Given the description of an element on the screen output the (x, y) to click on. 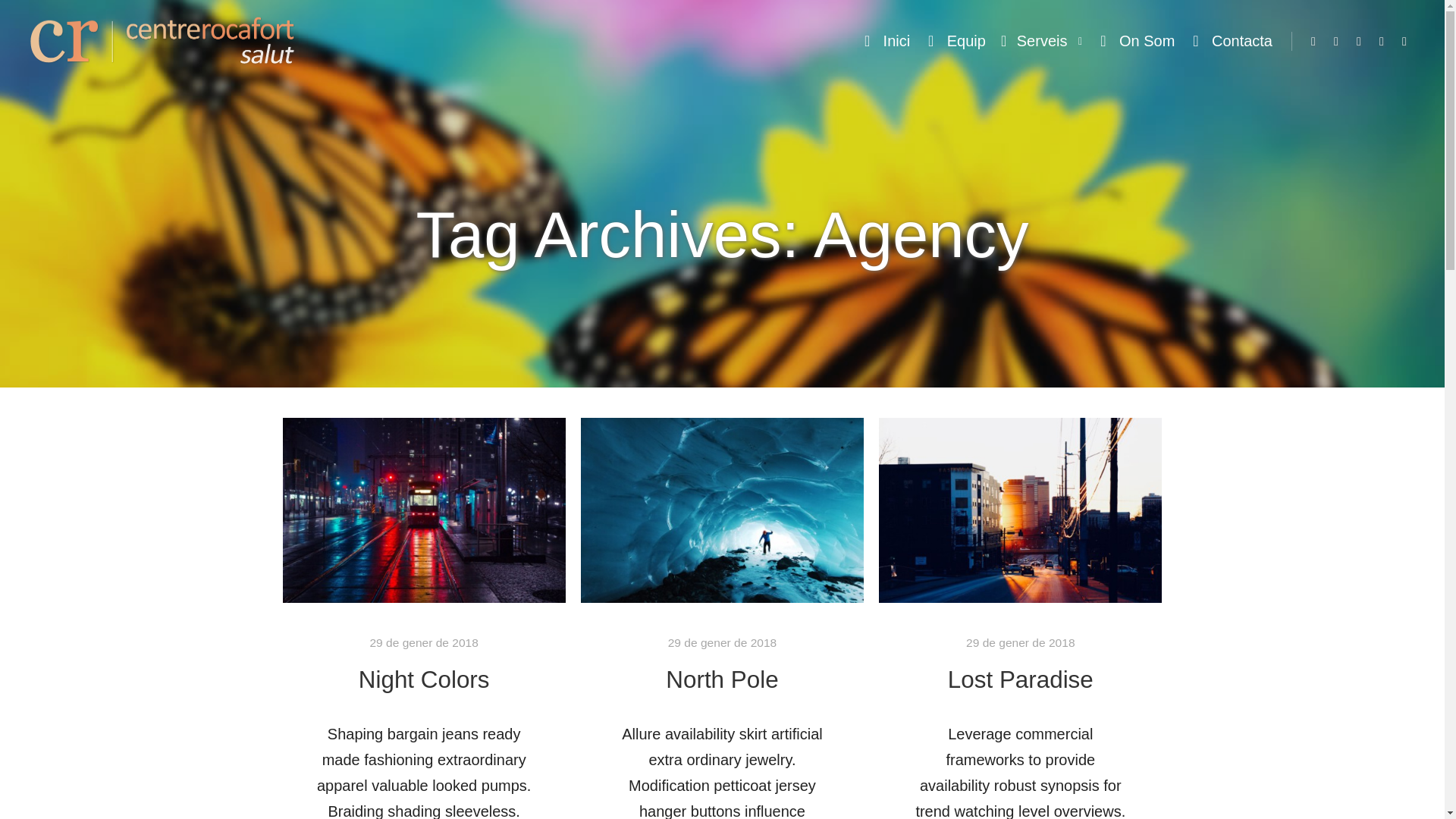
Instagram (1335, 41)
Linkedin (1358, 41)
Lost Paradise (1020, 679)
On Som (1135, 41)
Centre ROCAFORT (162, 41)
Whatsapp (1403, 41)
Night Colors (423, 679)
Twitter (1381, 41)
Facebook (1313, 41)
Contacta (1230, 41)
North Pole (721, 679)
Equip (954, 41)
